Given the description of an element on the screen output the (x, y) to click on. 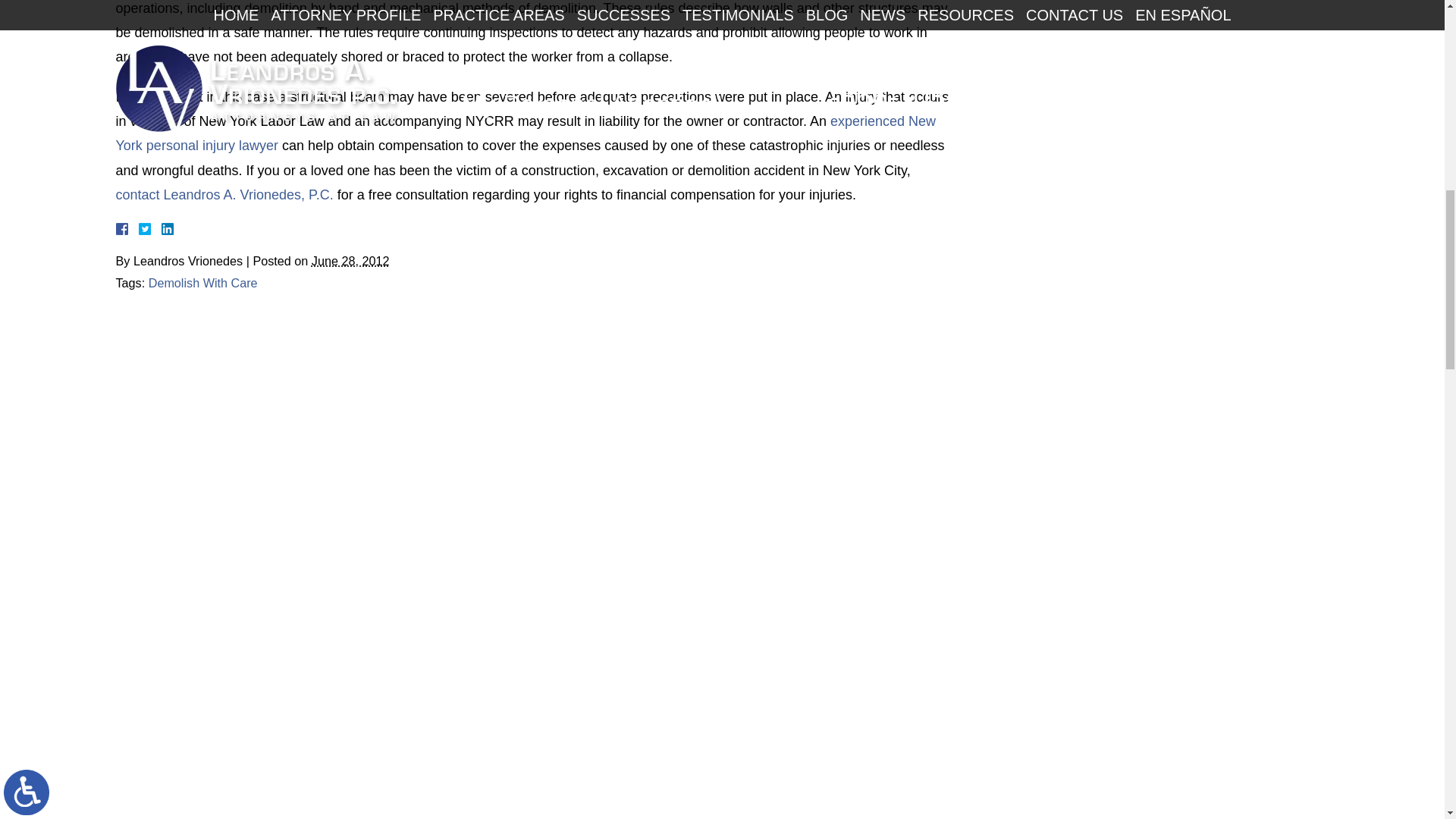
Facebook (139, 228)
2012-06-28T21:57:23-0700 (350, 260)
Twitter (149, 228)
LinkedIn (160, 228)
